Given the description of an element on the screen output the (x, y) to click on. 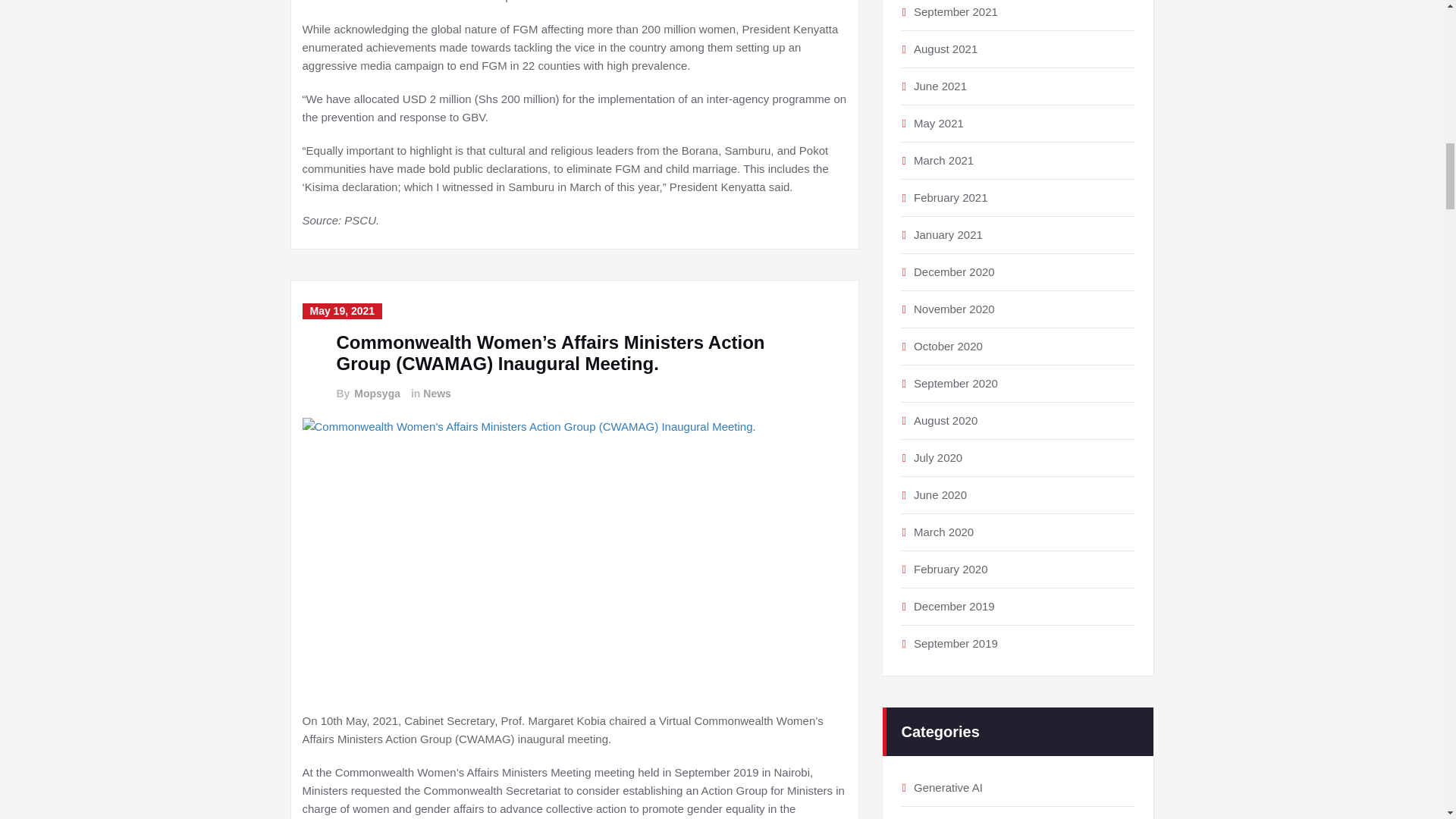
May 19, 2021 (341, 311)
Mopsyga (376, 393)
